Given the description of an element on the screen output the (x, y) to click on. 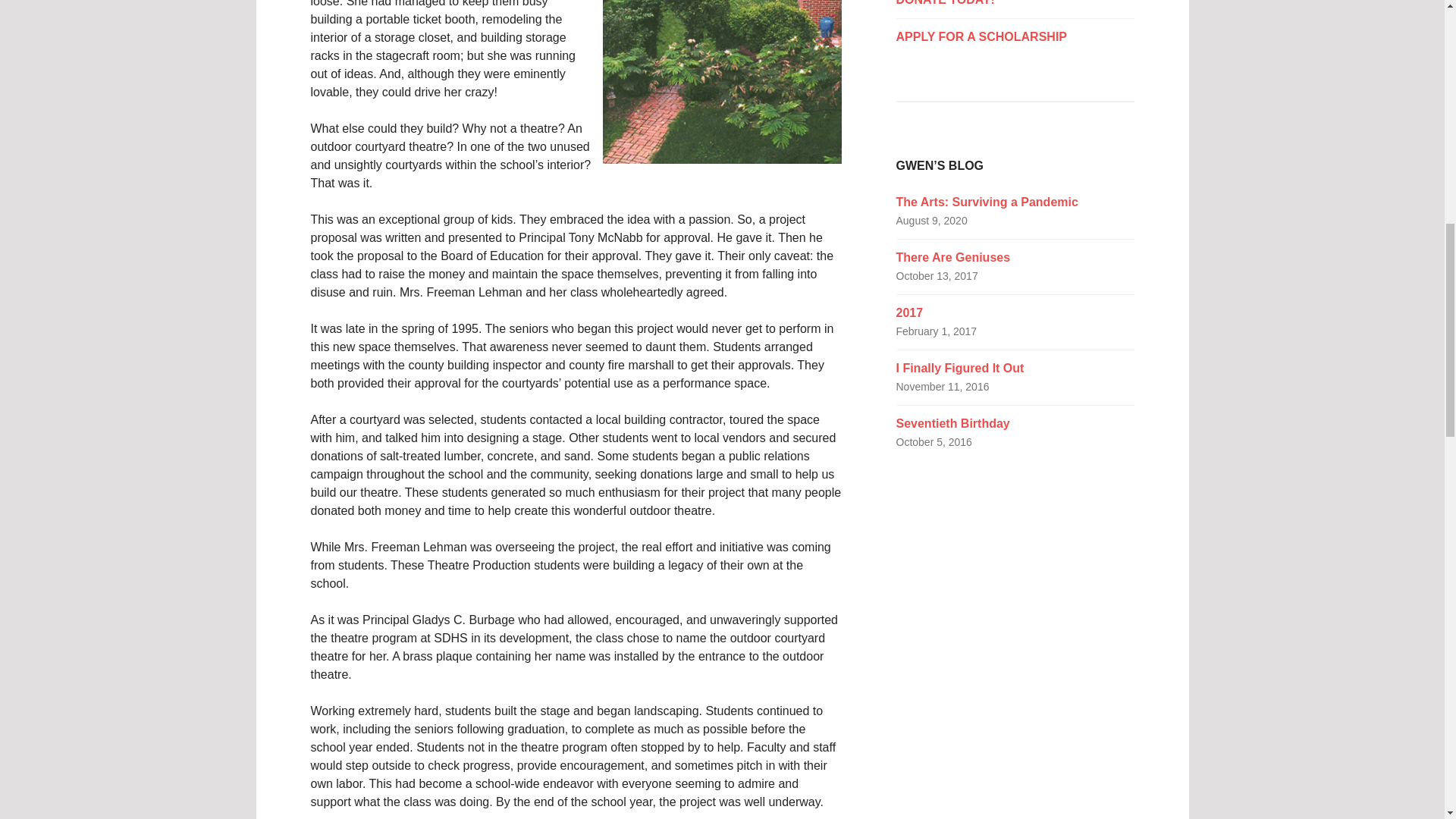
There Are Geniuses (953, 256)
APPLY FOR A SCHOLARSHIP (1015, 36)
I Finally Figured It Out (960, 367)
2017 (909, 312)
Seventieth Birthday (953, 422)
The Arts: Surviving a Pandemic (987, 201)
DONATE TODAY! (1015, 4)
